Given the description of an element on the screen output the (x, y) to click on. 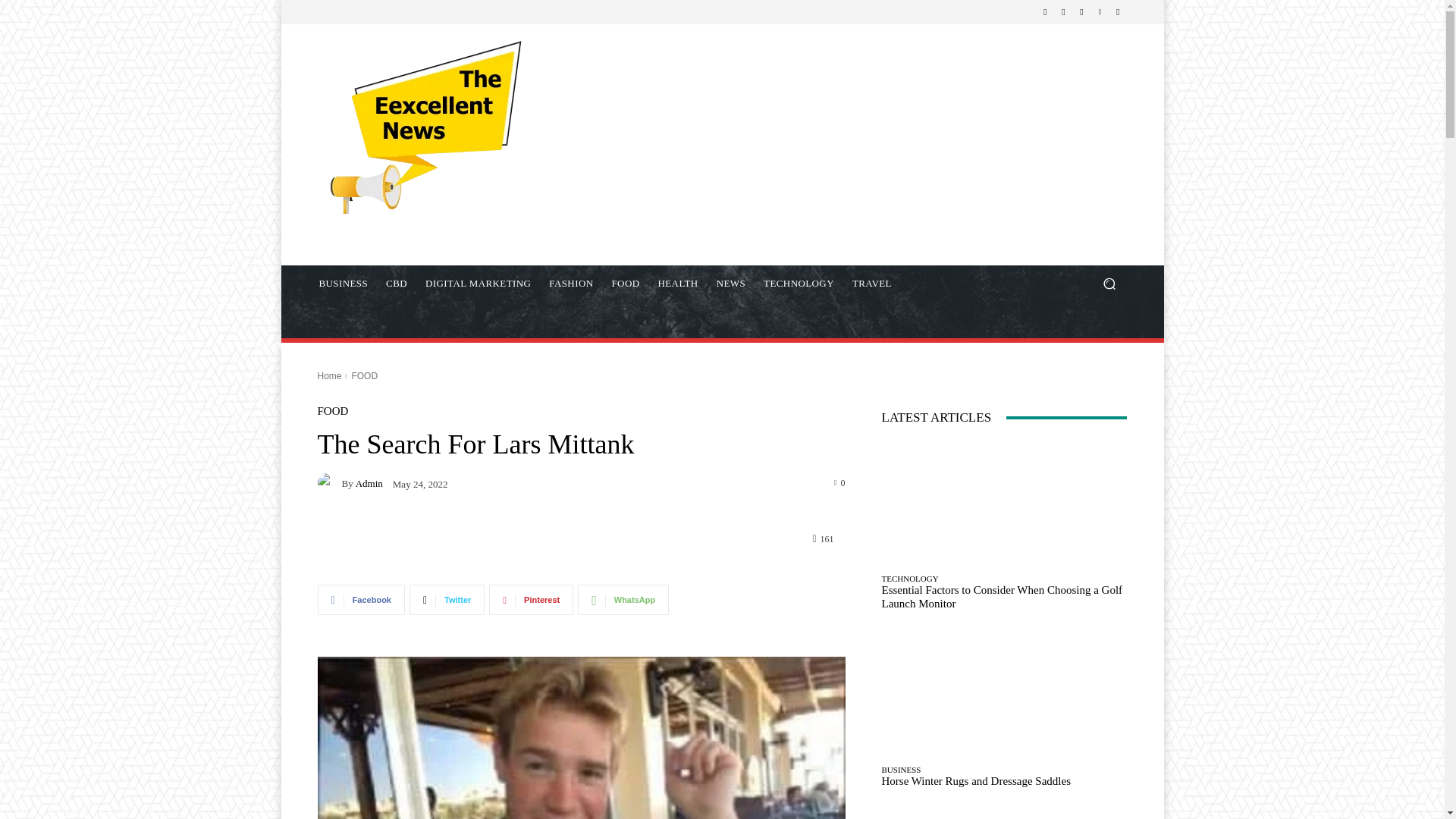
Facebook (1044, 12)
FASHION (571, 283)
NEWS (730, 283)
FOOD (624, 283)
DIGITAL MARKETING (478, 283)
Twitter (1080, 12)
HEALTH (676, 283)
Home (328, 376)
View all posts in FOOD (363, 376)
Facebook (360, 599)
